Given the description of an element on the screen output the (x, y) to click on. 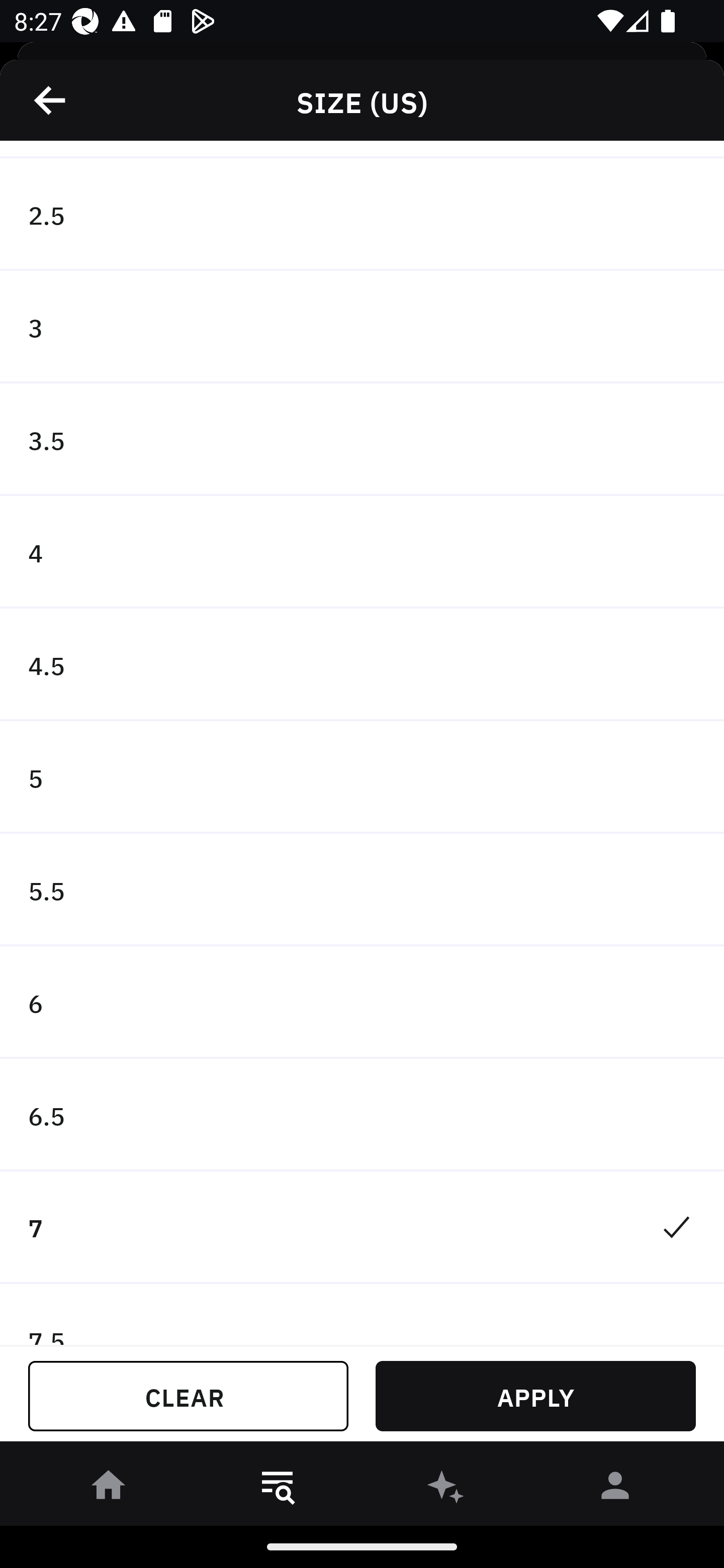
 (50, 100)
2.5 (362, 214)
3 (362, 327)
3.5 (362, 439)
4 (362, 551)
4.5 (362, 664)
5 (362, 777)
5.5 (362, 890)
6 (362, 1002)
6.5 (362, 1114)
7  (362, 1227)
CLEAR  (188, 1396)
APPLY (535, 1396)
󰋜 (108, 1488)
󱎸 (277, 1488)
󰫢 (446, 1488)
󰀄 (615, 1488)
